Given the description of an element on the screen output the (x, y) to click on. 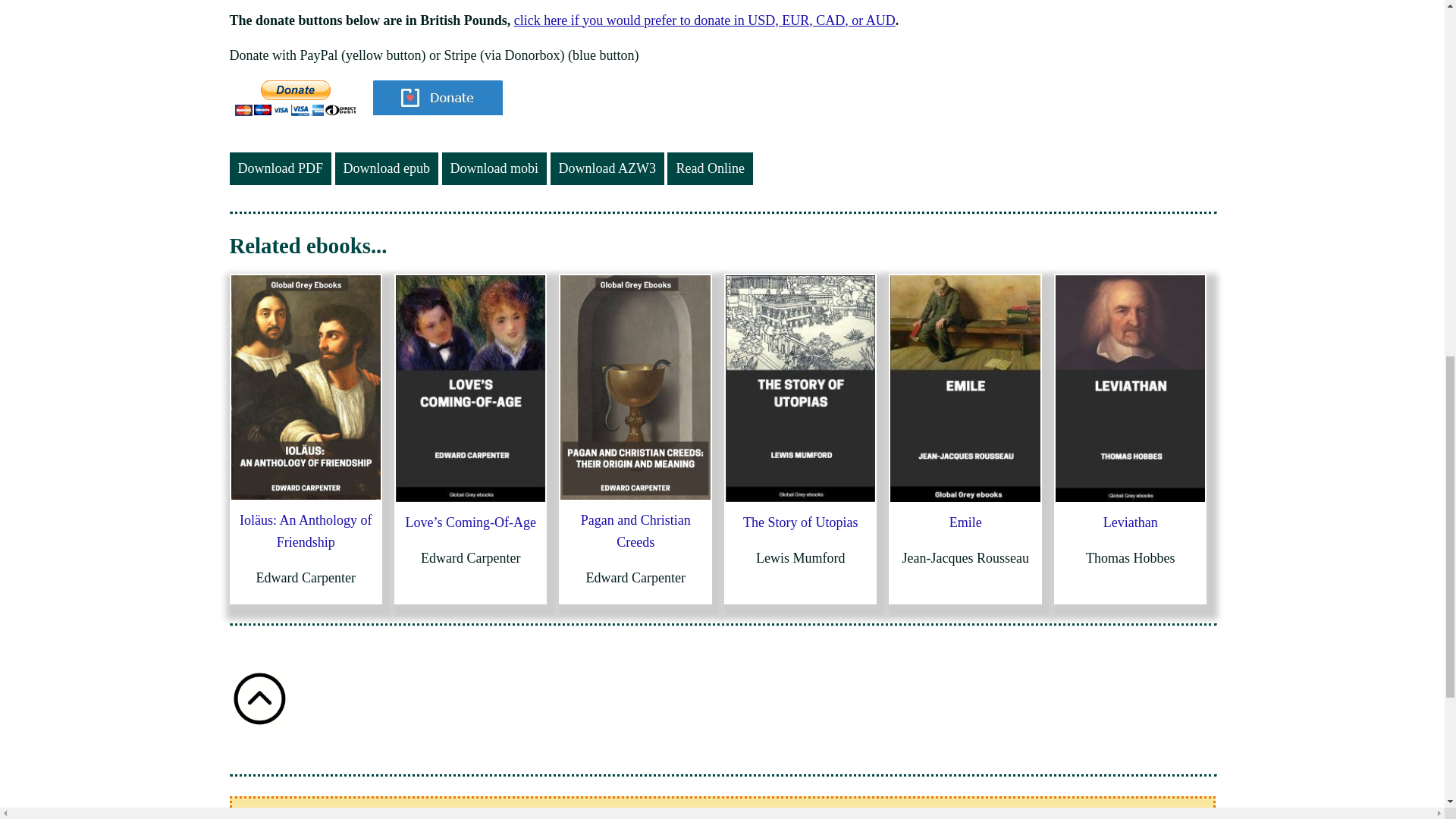
Download epub (386, 168)
Download mobi (494, 168)
Read Online (709, 168)
Download PDF (279, 168)
Read Online (709, 168)
Download AZW3 (606, 168)
Download mobi (494, 168)
Download epub (386, 168)
Download AZW3 (606, 168)
